Given the description of an element on the screen output the (x, y) to click on. 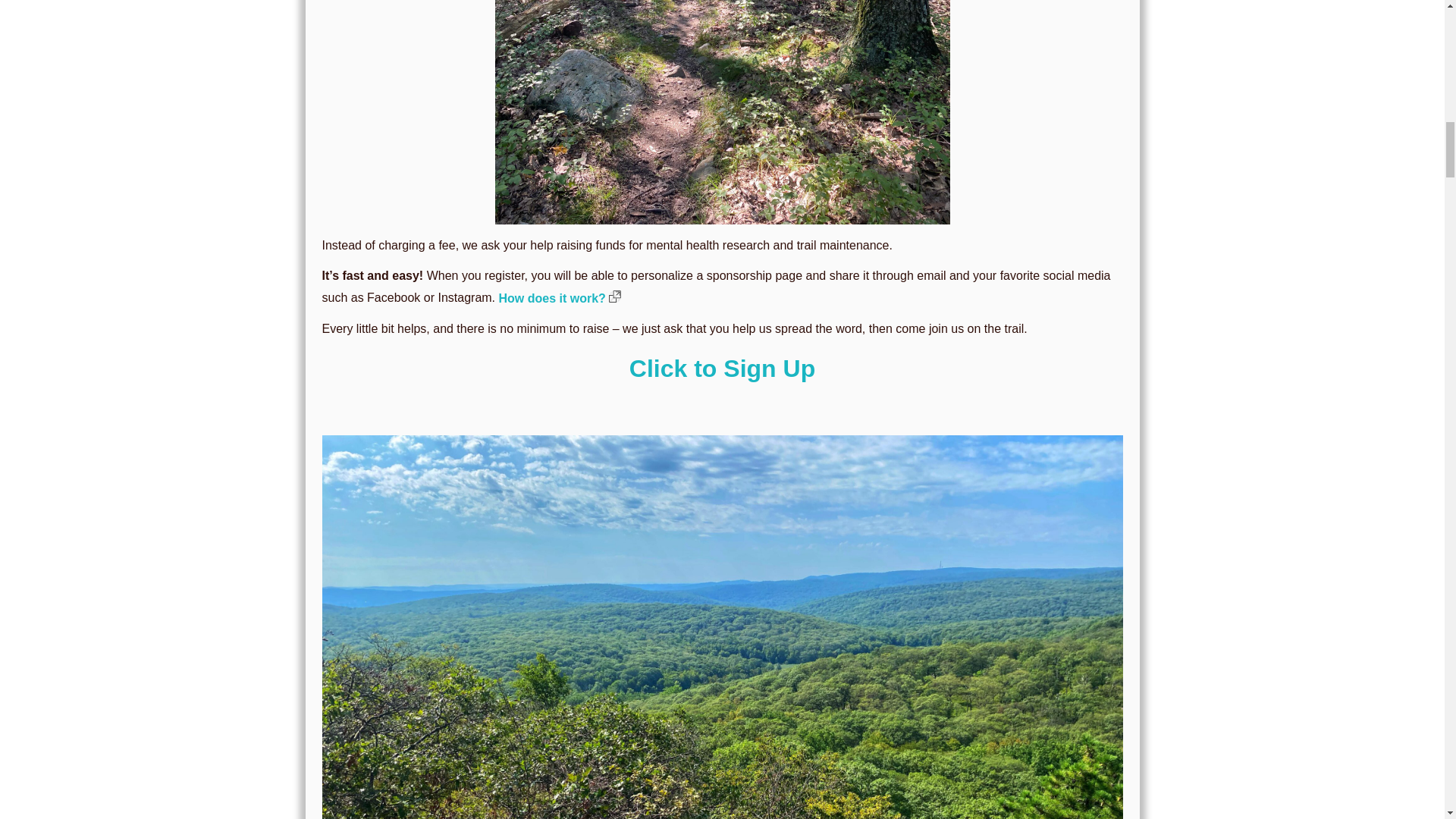
How does it work? (560, 297)
Register for a hike (721, 368)
Click to Sign Up (721, 368)
